Given the description of an element on the screen output the (x, y) to click on. 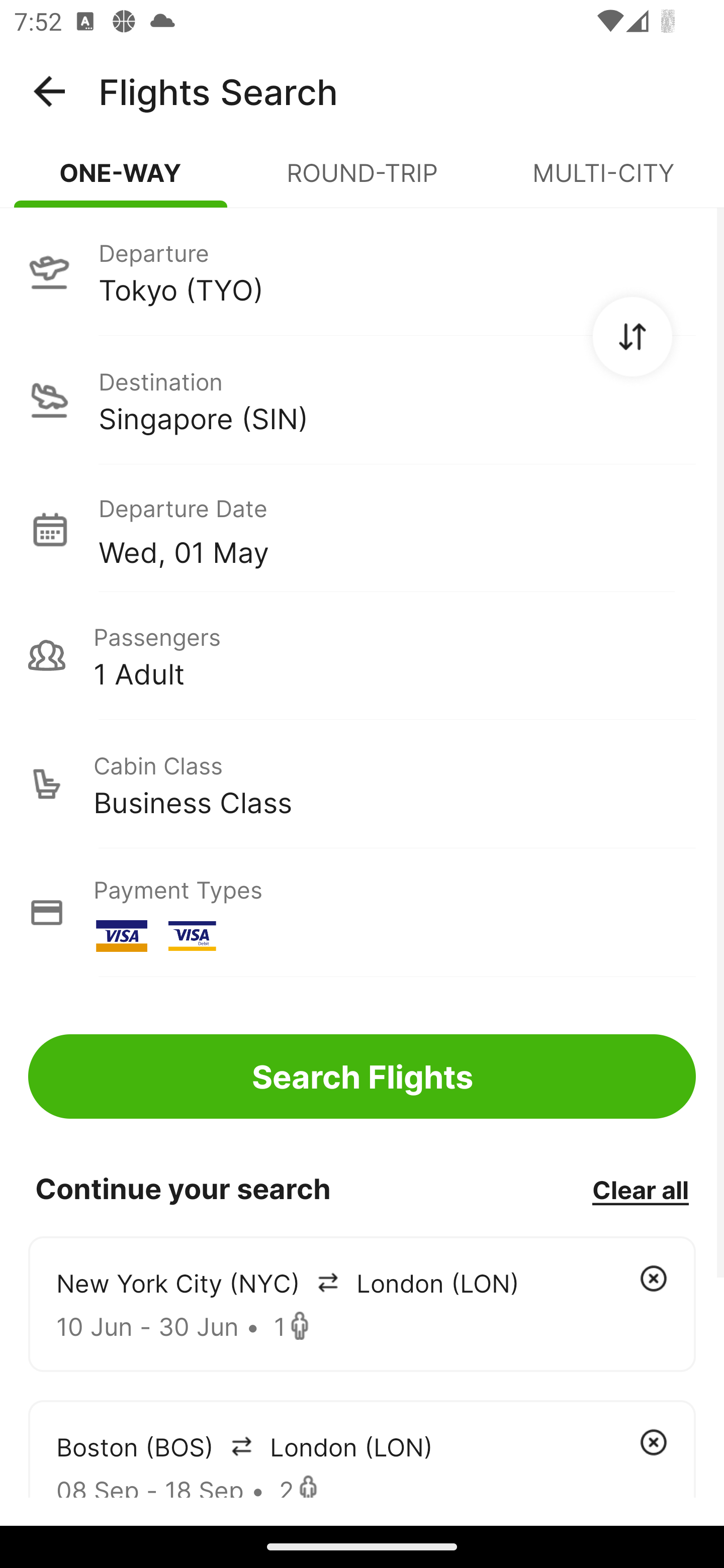
ONE-WAY (120, 180)
ROUND-TRIP (361, 180)
MULTI-CITY (603, 180)
Departure Tokyo (TYO) (362, 270)
Destination Singapore (SIN) (362, 400)
Departure Date Wed, 01 May (396, 528)
Passengers 1 Adult (362, 655)
Cabin Class Business Class (362, 783)
Payment Types (362, 912)
Search Flights (361, 1075)
Clear all (640, 1189)
